Given the description of an element on the screen output the (x, y) to click on. 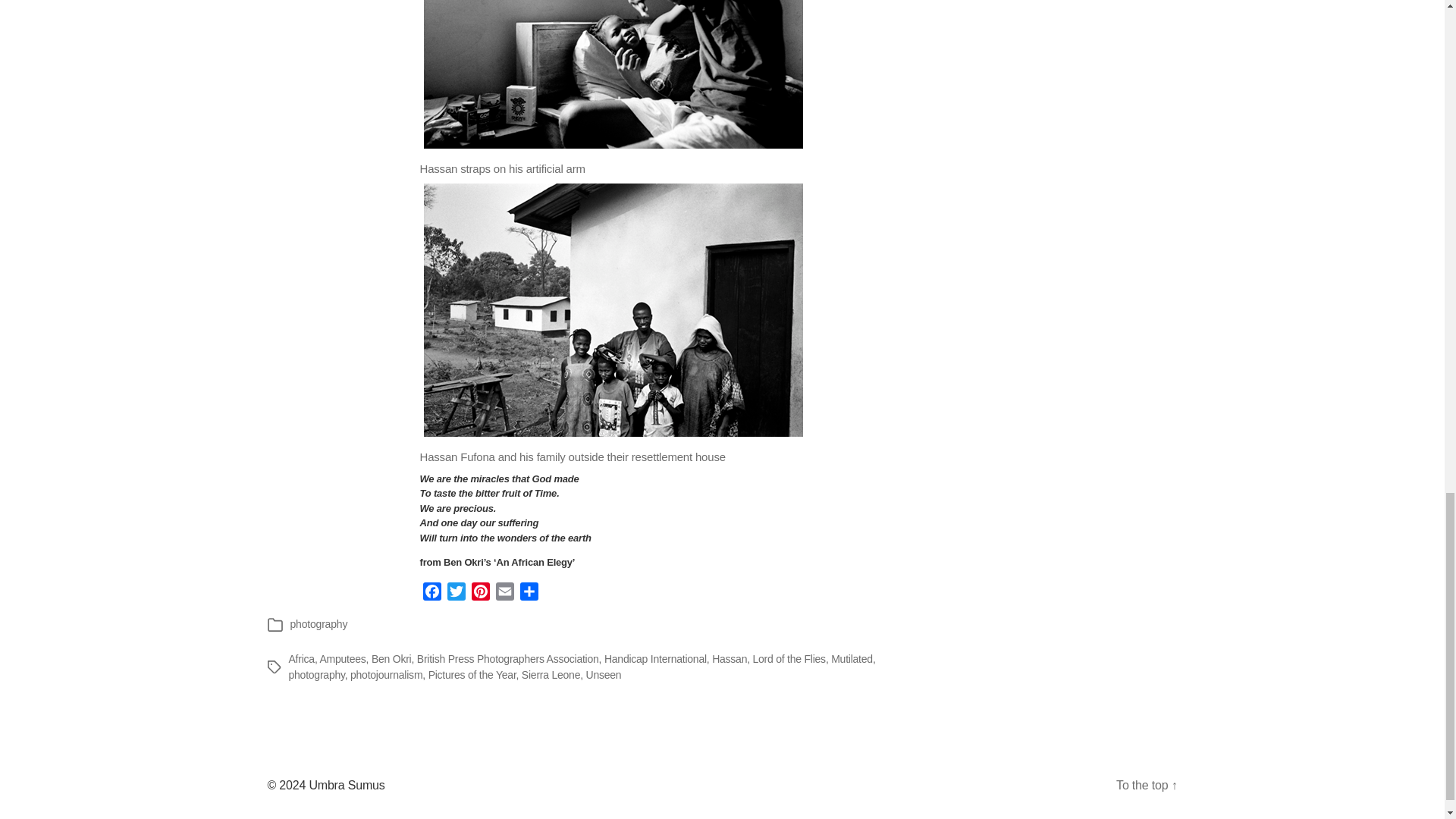
Pinterest (480, 594)
Facebook (432, 594)
Amputees (341, 658)
Handicap International (655, 658)
Email (504, 594)
Mutilated (851, 658)
Pinterest (480, 594)
Twitter (456, 594)
Email (504, 594)
